Given the description of an element on the screen output the (x, y) to click on. 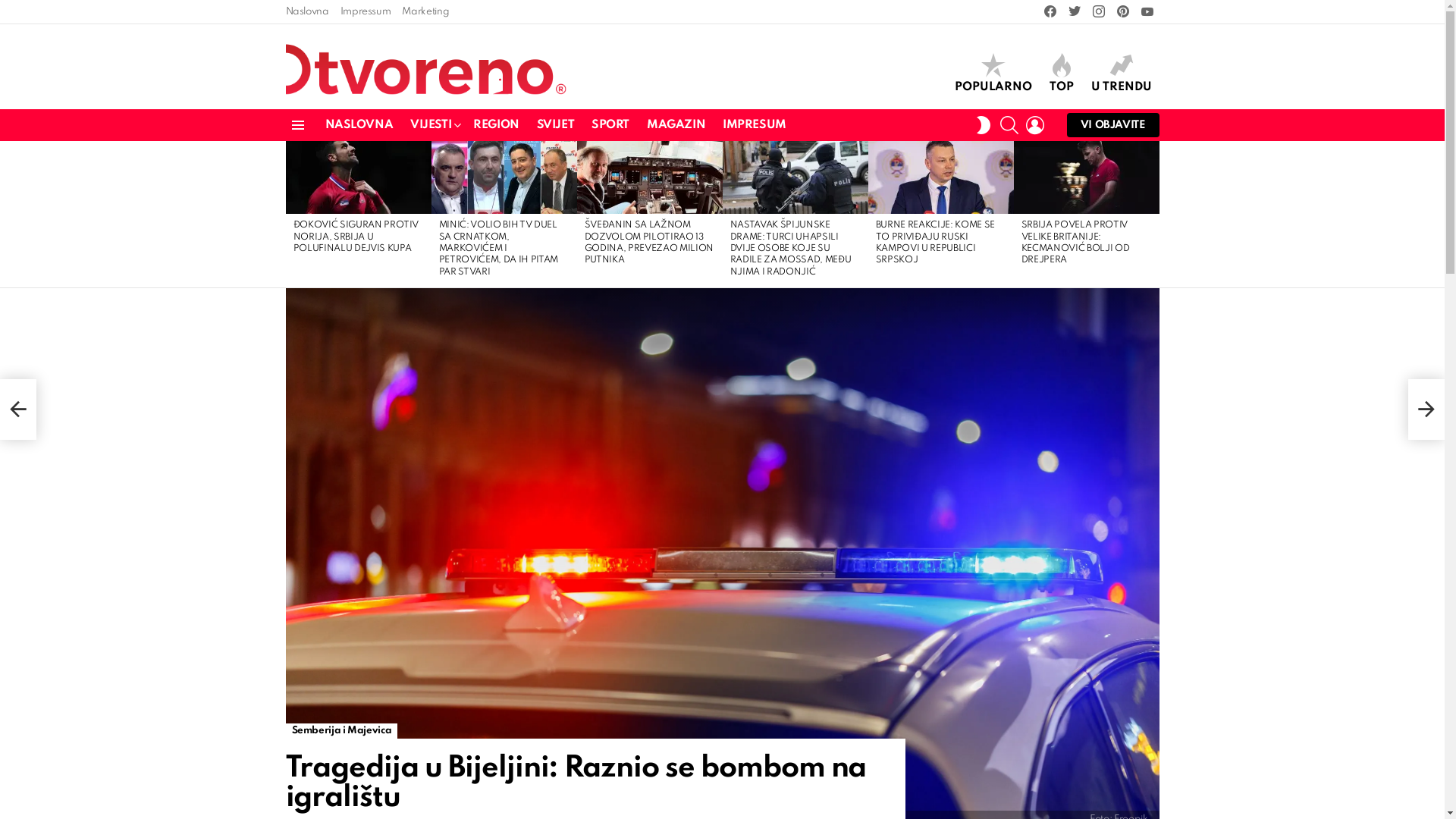
NASLOVNA Element type: text (358, 124)
SVIJET Element type: text (555, 124)
REGION Element type: text (495, 124)
youtube Element type: text (1146, 11)
IMPRESUM Element type: text (754, 124)
Impressum Element type: text (365, 12)
facebook Element type: text (1049, 11)
Menu Element type: text (297, 125)
SPORT Element type: text (610, 124)
TOP Element type: text (1061, 73)
twitter Element type: text (1073, 11)
VIJESTI Element type: text (432, 124)
Semberija i Majevica Element type: text (341, 730)
instagram Element type: text (1097, 11)
POPULARNO Element type: text (992, 73)
Naslovna Element type: text (306, 12)
pinterest Element type: text (1122, 11)
Marketing Element type: text (424, 12)
SWITCH SKIN Element type: text (983, 124)
SEARCH Element type: text (1009, 124)
MAGAZIN Element type: text (675, 124)
VI OBJAVITE Element type: text (1112, 124)
U TRENDU Element type: text (1120, 73)
LOGIN Element type: text (1035, 124)
